Given the description of an element on the screen output the (x, y) to click on. 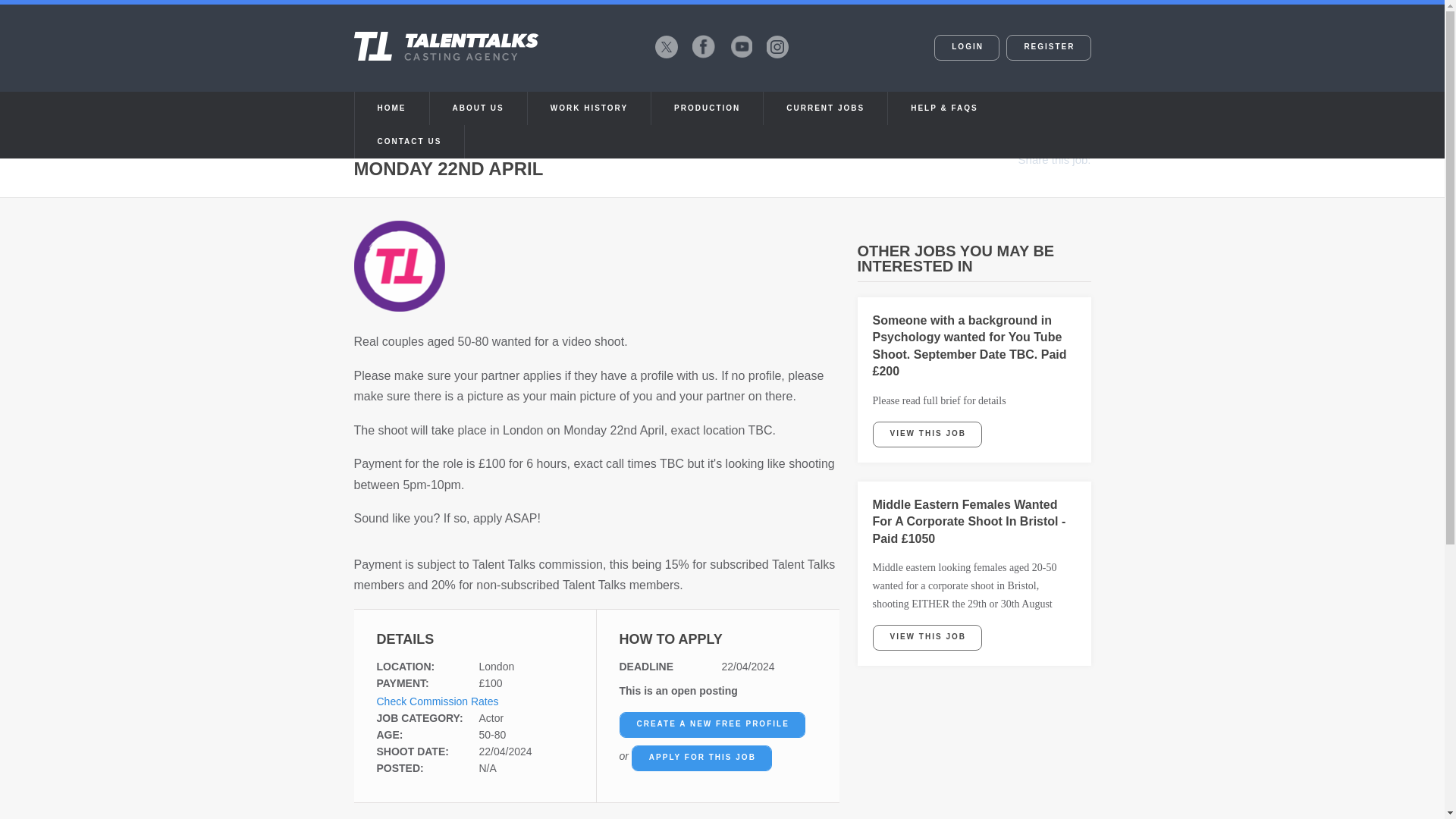
Check Commission Rates (436, 701)
HOME (392, 108)
CURRENT JOBS (824, 108)
Follow us on Facebook (702, 46)
CREATE A NEW FREE PROFILE (711, 724)
REGISTER (1048, 47)
PRODUCTION (706, 108)
CONTACT US (409, 141)
VIEW THIS JOB (926, 637)
Facebook (702, 46)
